Given the description of an element on the screen output the (x, y) to click on. 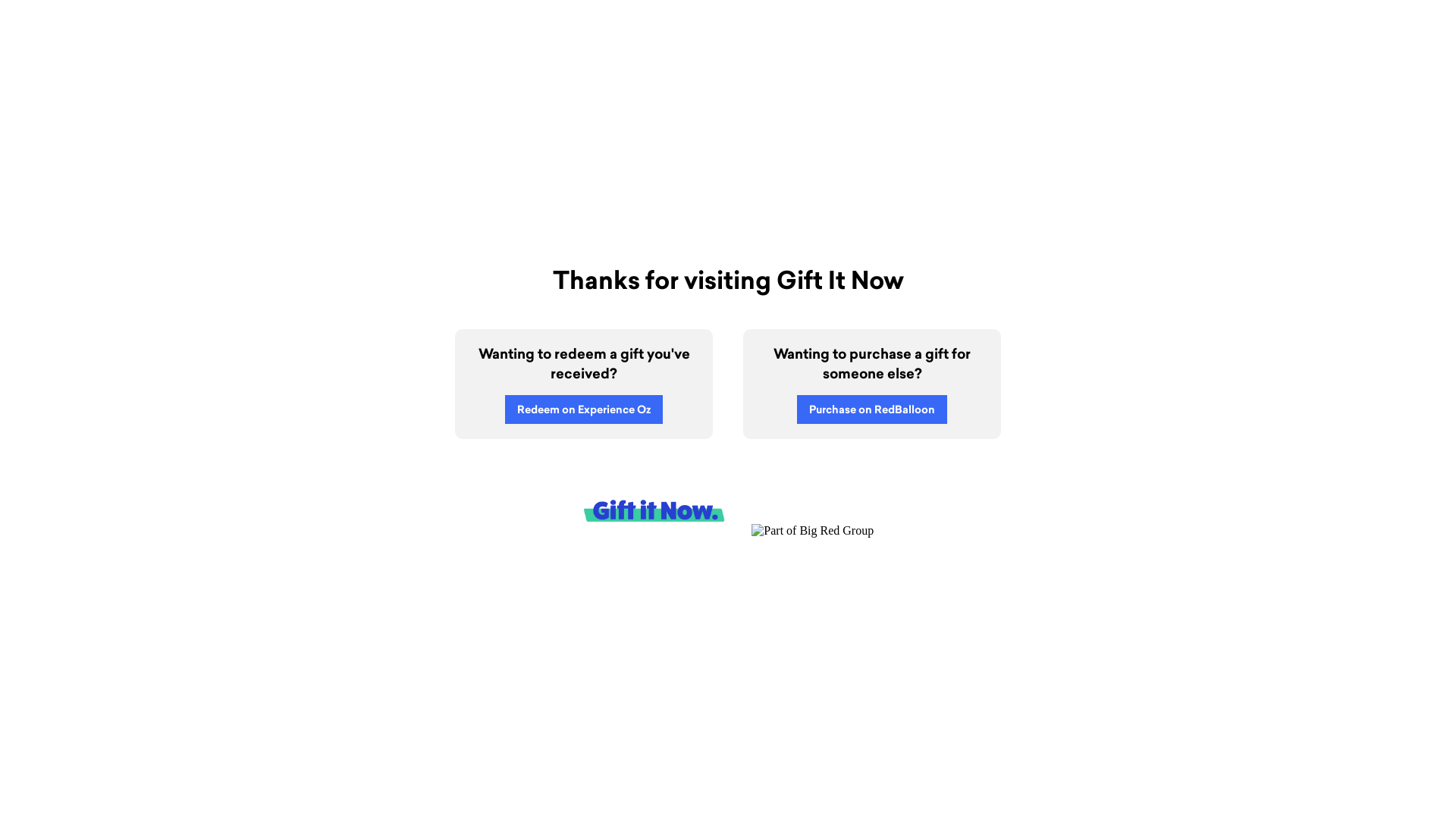
Redeem on Experience Oz Element type: text (583, 409)
Purchase on RedBalloon Element type: text (872, 409)
